Given the description of an element on the screen output the (x, y) to click on. 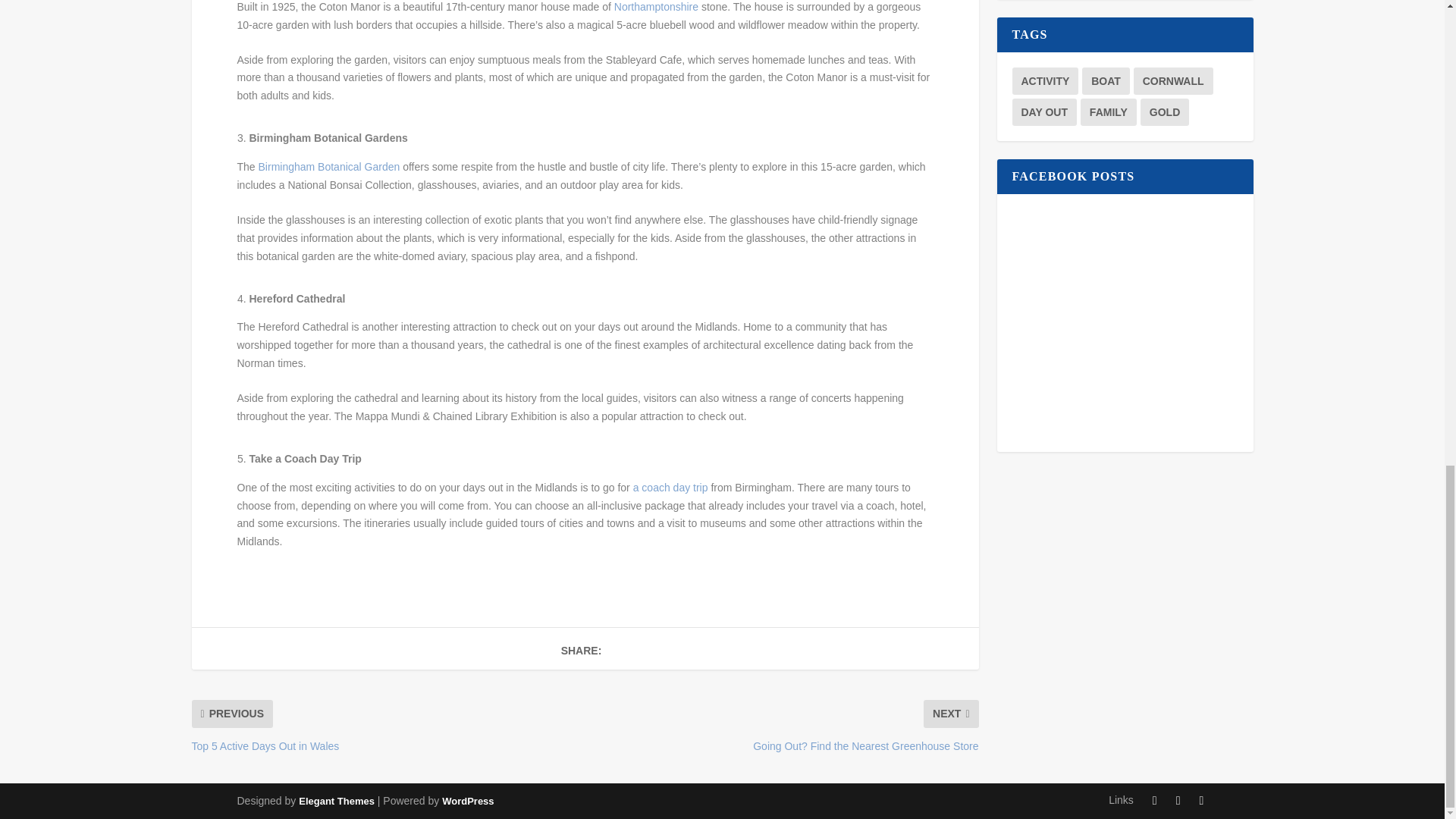
a coach day trip (670, 487)
Premium WordPress Themes (336, 800)
Northamptonshire (657, 6)
Birmingham Botanical Garden (329, 166)
